Given the description of an element on the screen output the (x, y) to click on. 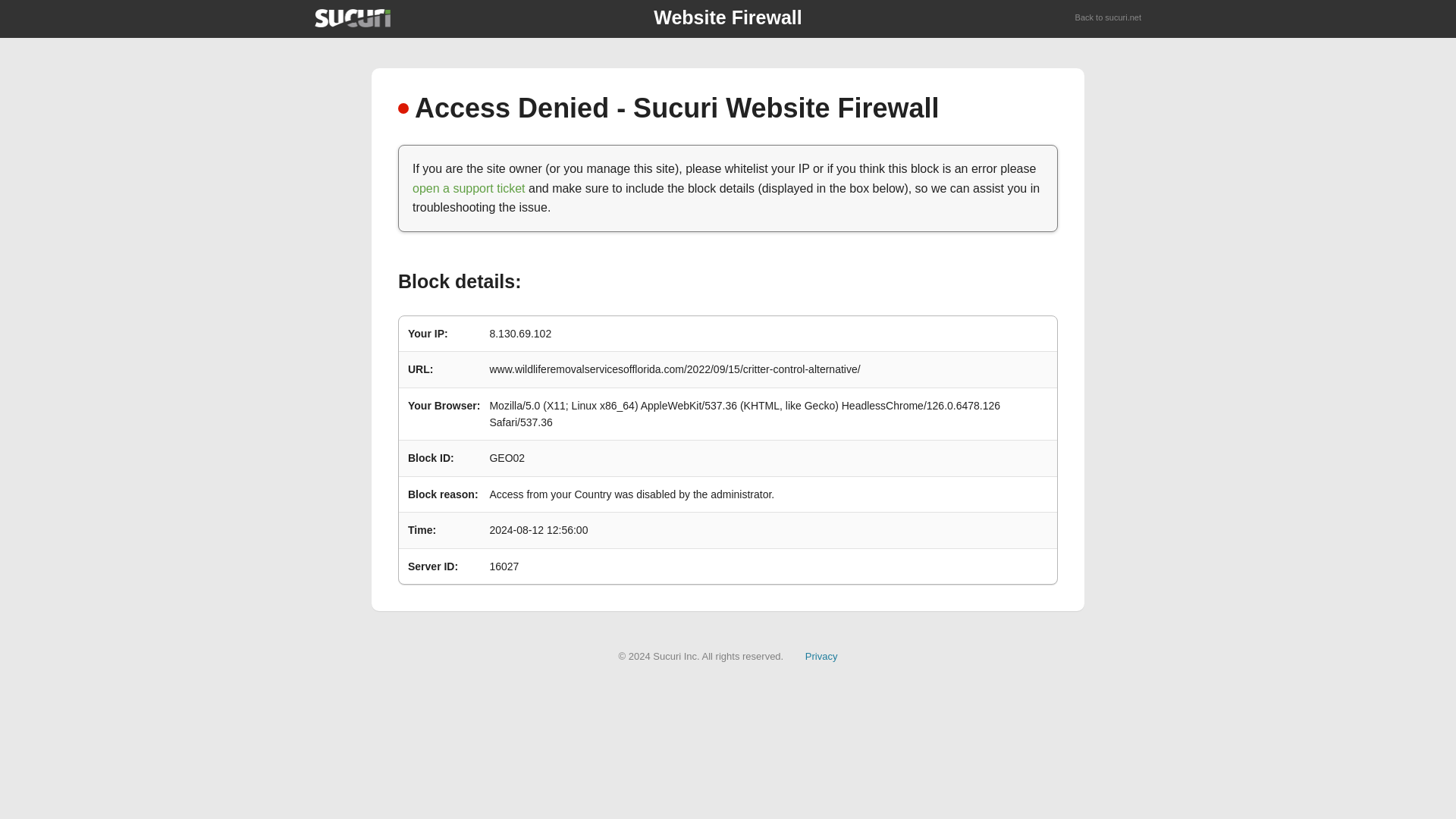
Back to sucuri.net (1108, 18)
open a support ticket (468, 187)
Privacy (821, 655)
